Given the description of an element on the screen output the (x, y) to click on. 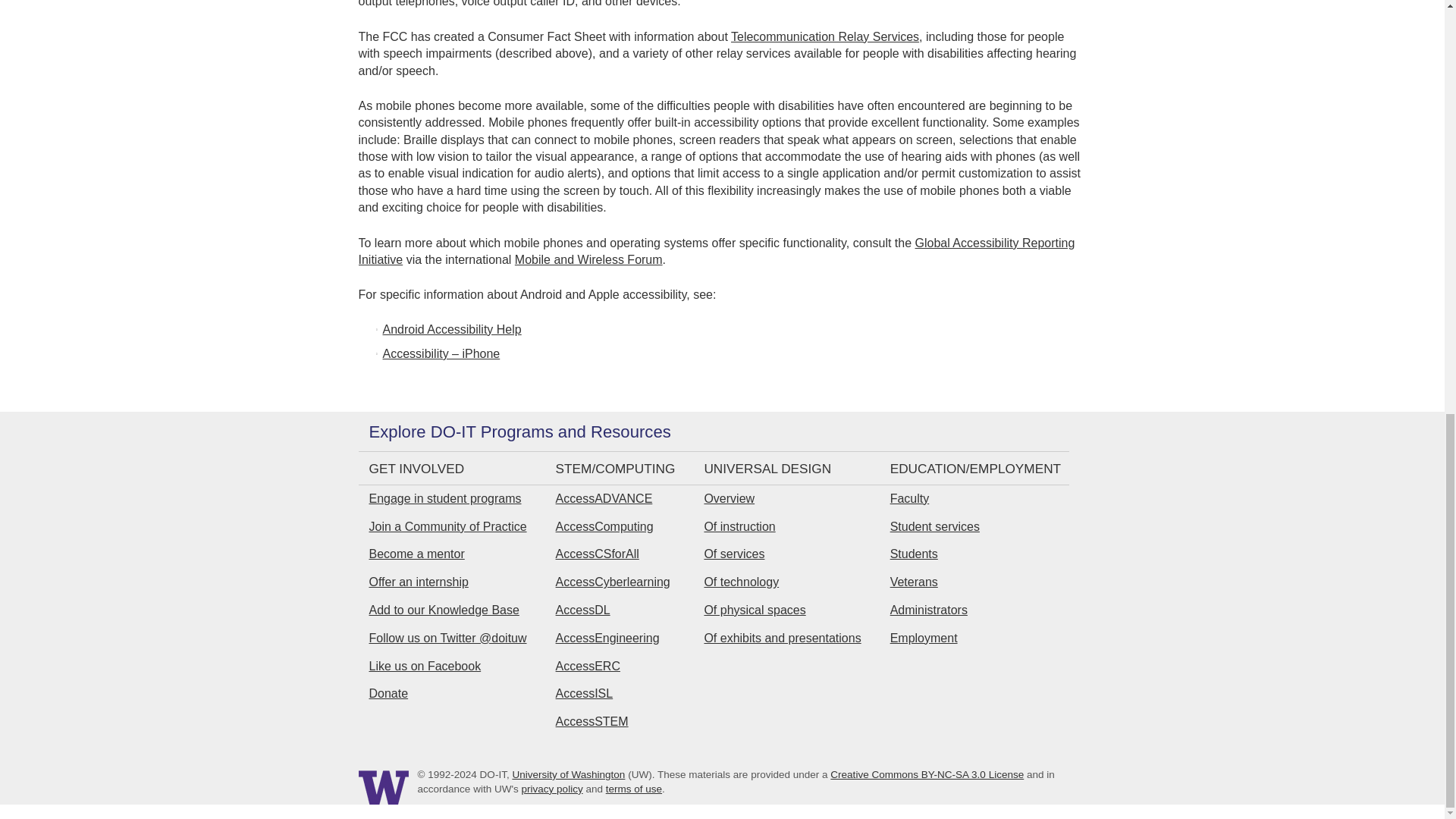
Become a mentor (416, 553)
AccessADVANCE (604, 498)
Android Accessibility Help (451, 328)
Mobile and Wireless Forum (588, 259)
Add to our Knowledge Base (443, 609)
Global Accessibility Reporting Initiative (716, 251)
Engage in student programs (444, 498)
Donate (387, 693)
Like us on Facebook (424, 666)
Join a Community of Practice (446, 526)
